Given the description of an element on the screen output the (x, y) to click on. 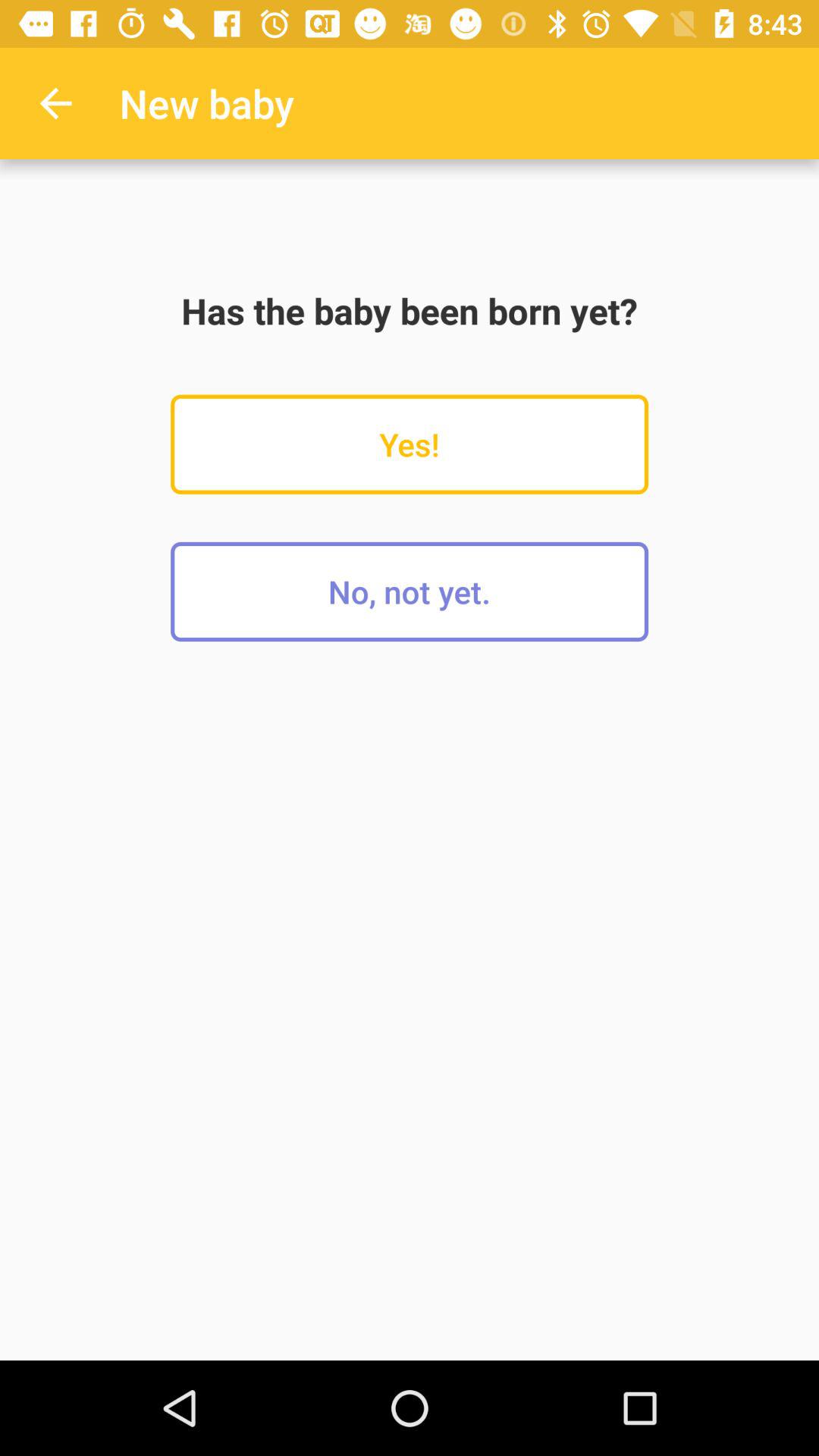
turn off the item above the no, not yet. (409, 444)
